Given the description of an element on the screen output the (x, y) to click on. 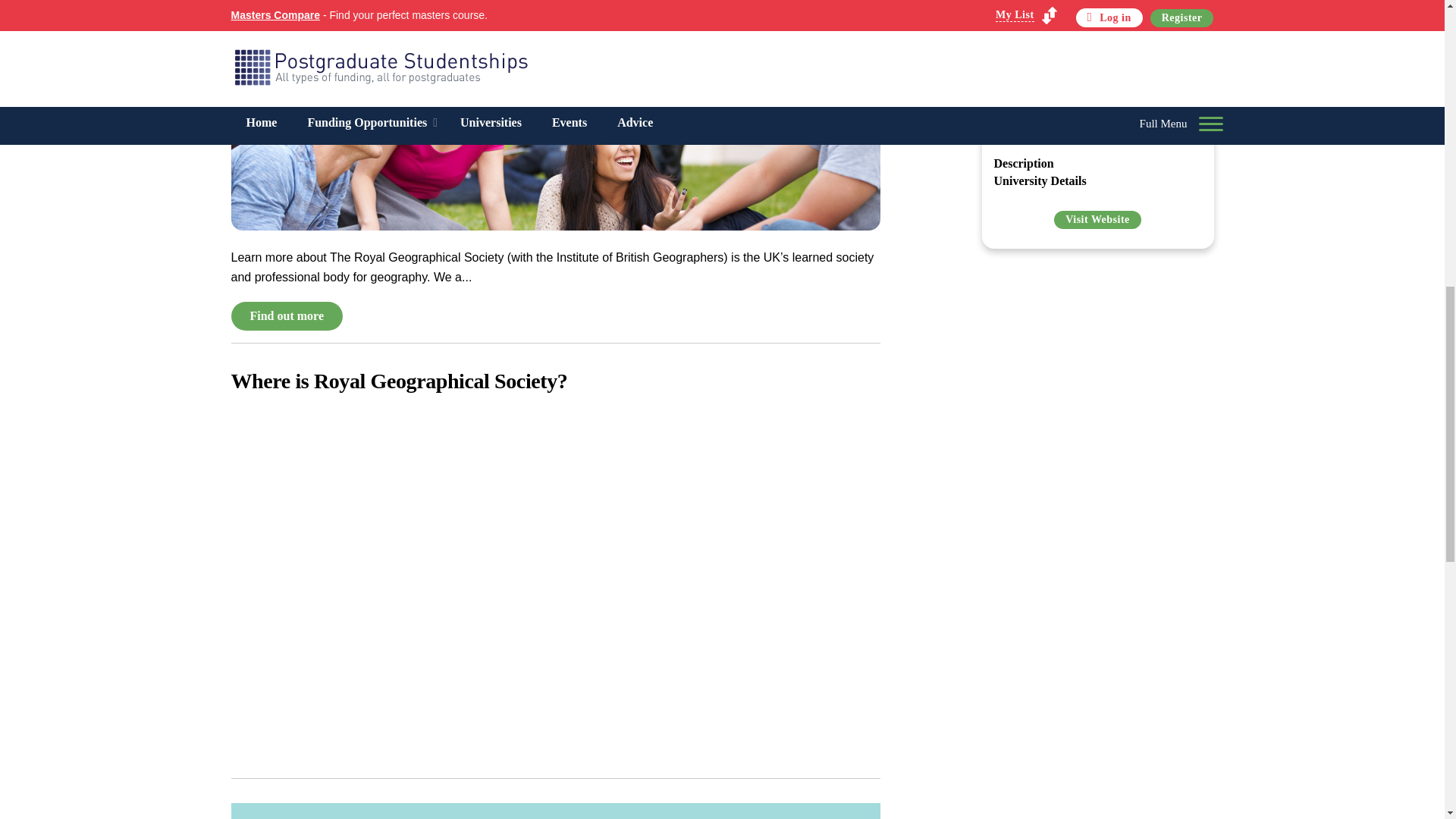
Find out more (286, 316)
